Given the description of an element on the screen output the (x, y) to click on. 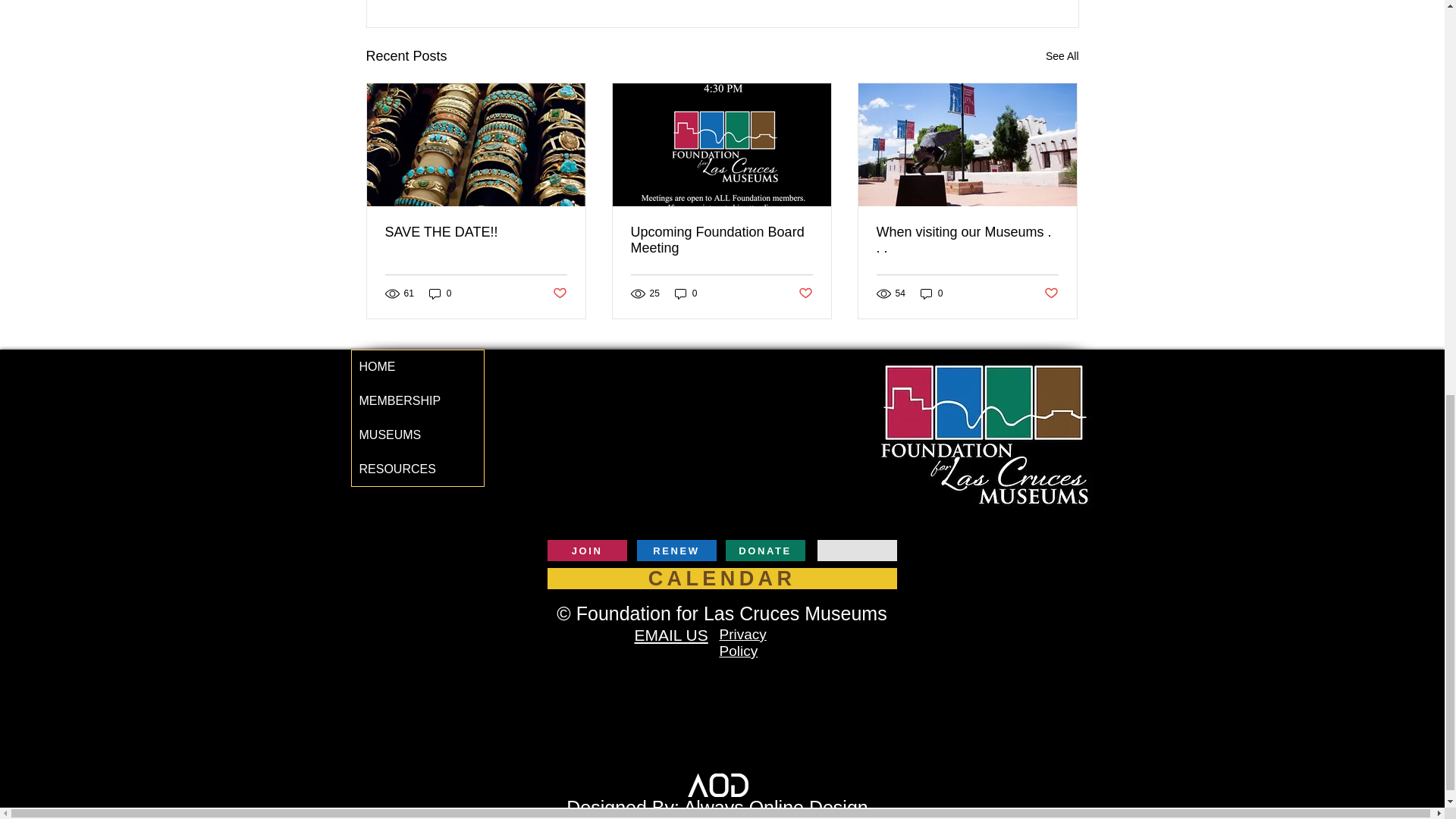
See All (1061, 56)
Facebook Like (1048, 552)
Post not marked as liked (558, 293)
Upcoming Foundation Board Meeting (721, 240)
SAVE THE DATE!! (476, 232)
0 (440, 293)
